Given the description of an element on the screen output the (x, y) to click on. 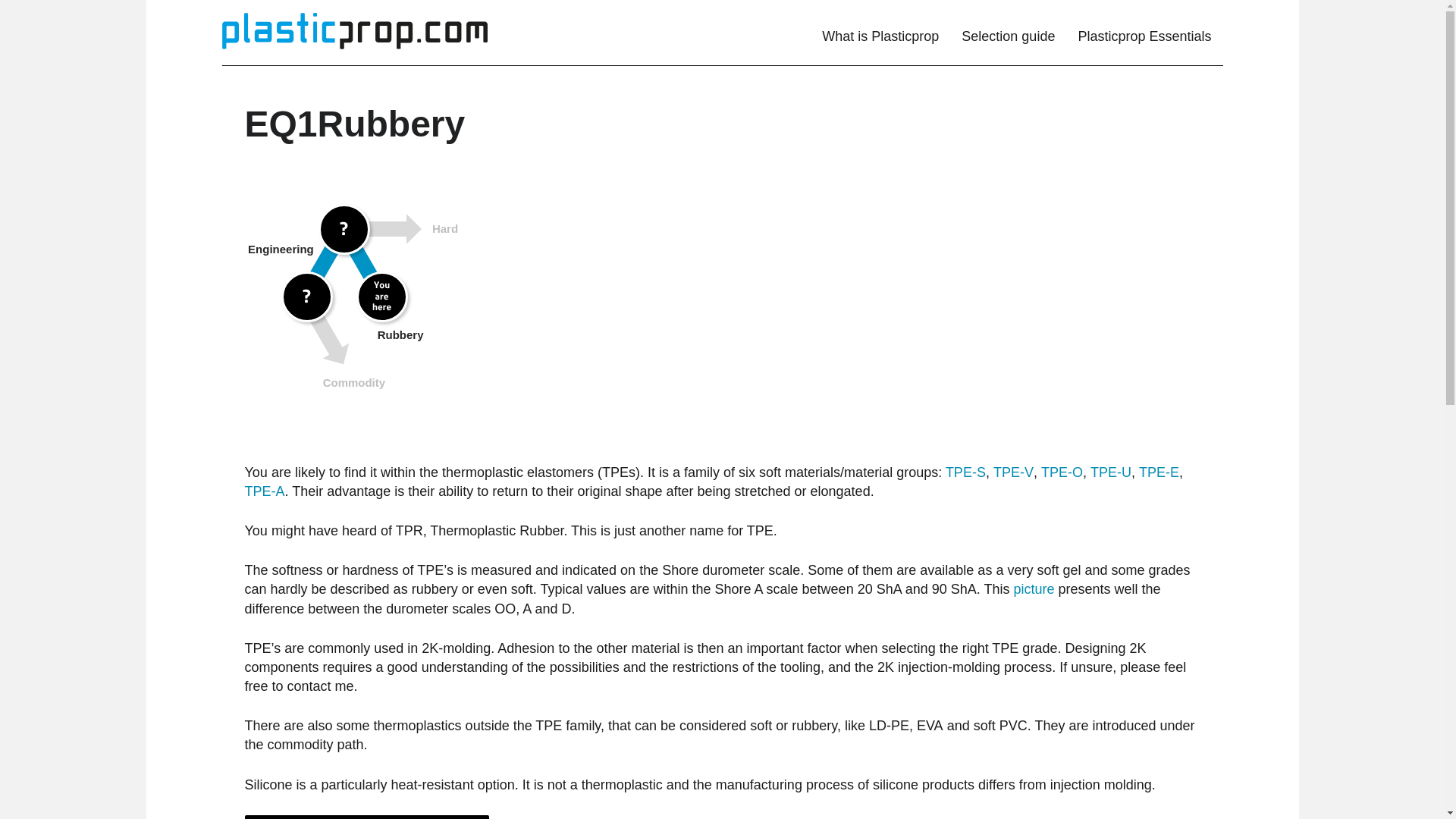
Back to the material selection guide (366, 816)
TPE-O (1062, 472)
TPE-V (1012, 472)
picture (1033, 589)
Selection guide (1007, 32)
What is Plasticprop (880, 32)
TPE-S (964, 472)
TPE-E (1158, 472)
TPE-U (1110, 472)
Plasticprop Essentials (1144, 32)
